Given the description of an element on the screen output the (x, y) to click on. 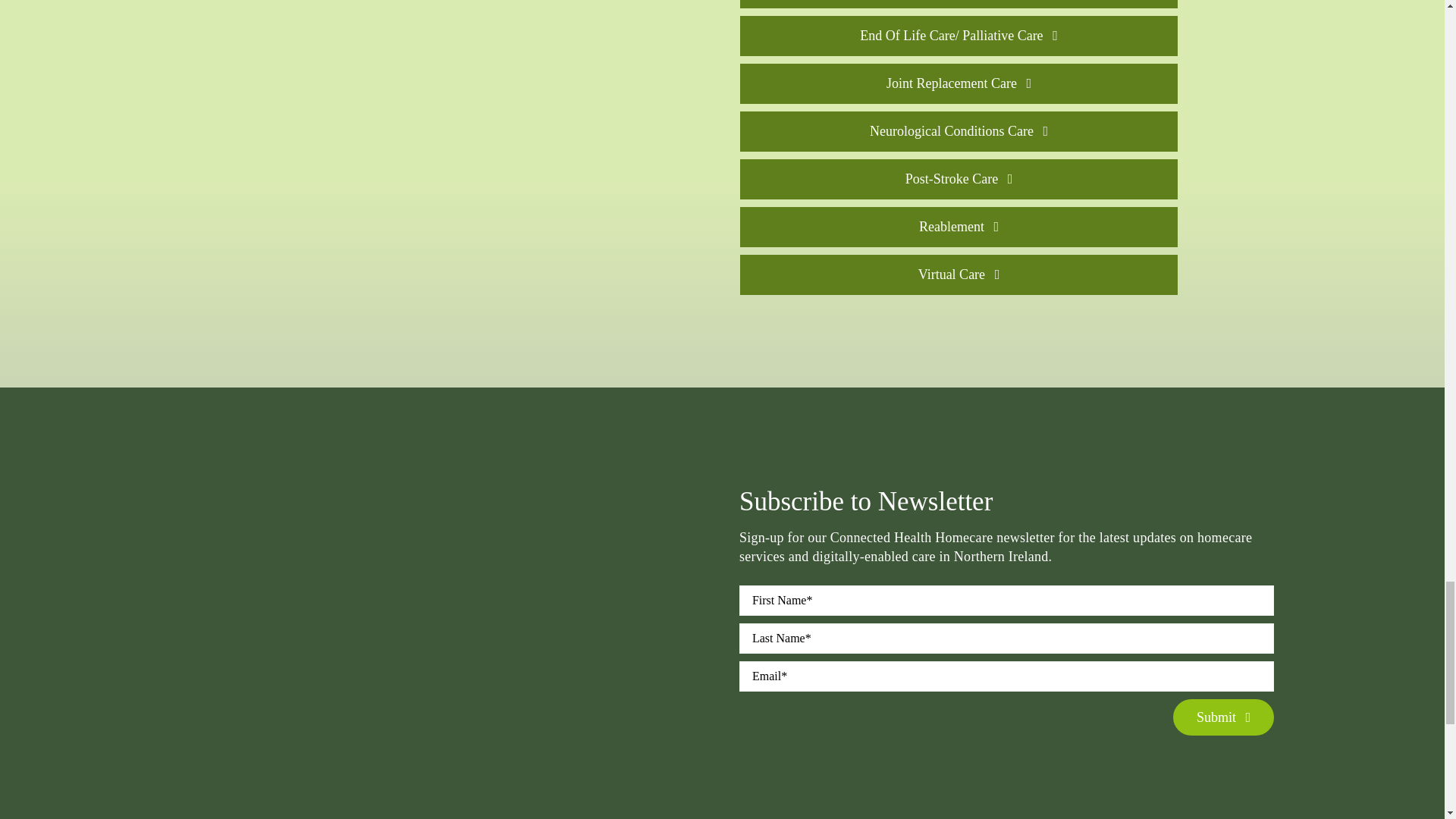
Submit (1006, 667)
